Given the description of an element on the screen output the (x, y) to click on. 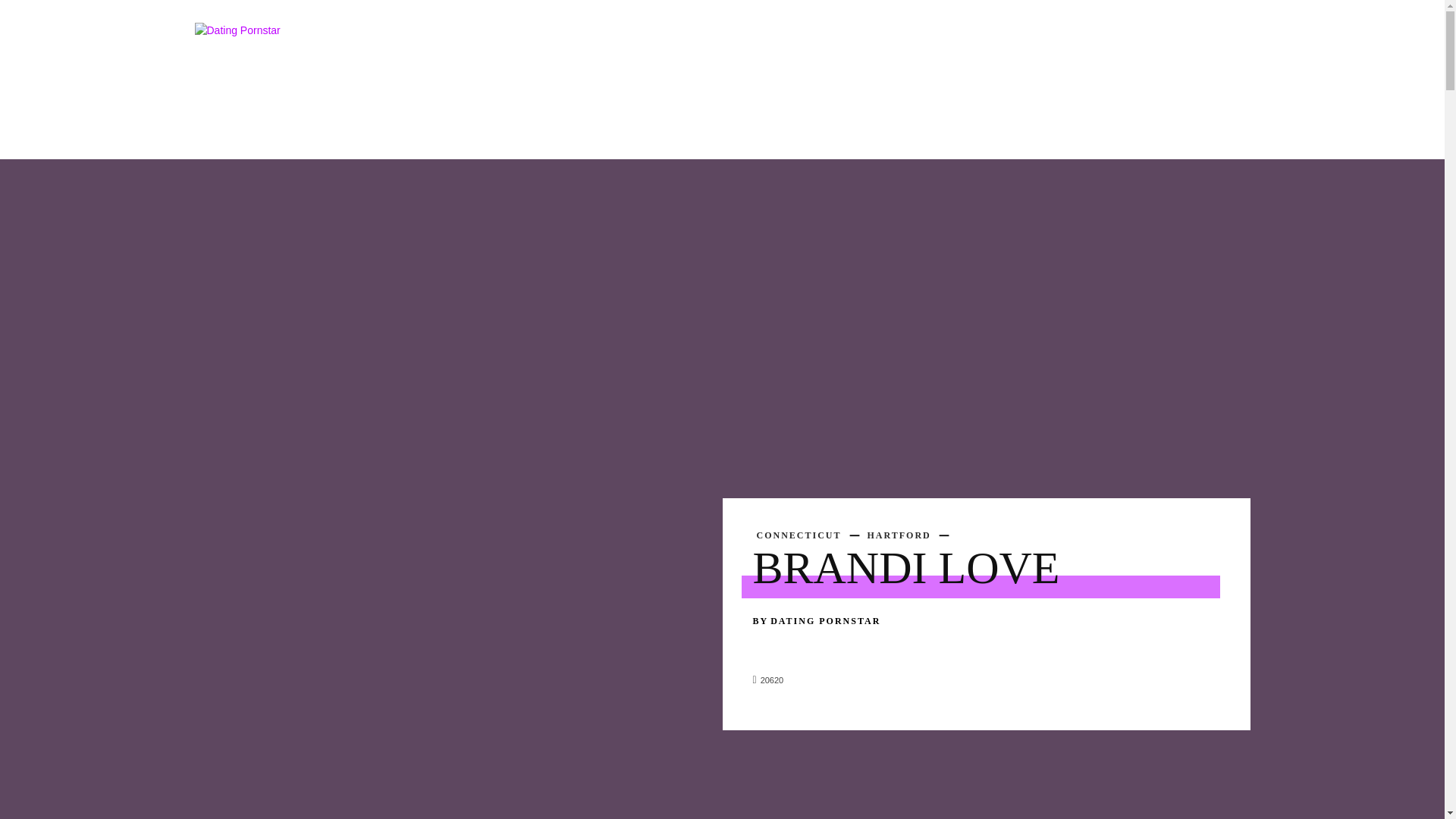
DATING PORNSTAR (825, 620)
Dating Pornstar (400, 90)
CONNECTICUT (799, 534)
HARTFORD (899, 534)
